Given the description of an element on the screen output the (x, y) to click on. 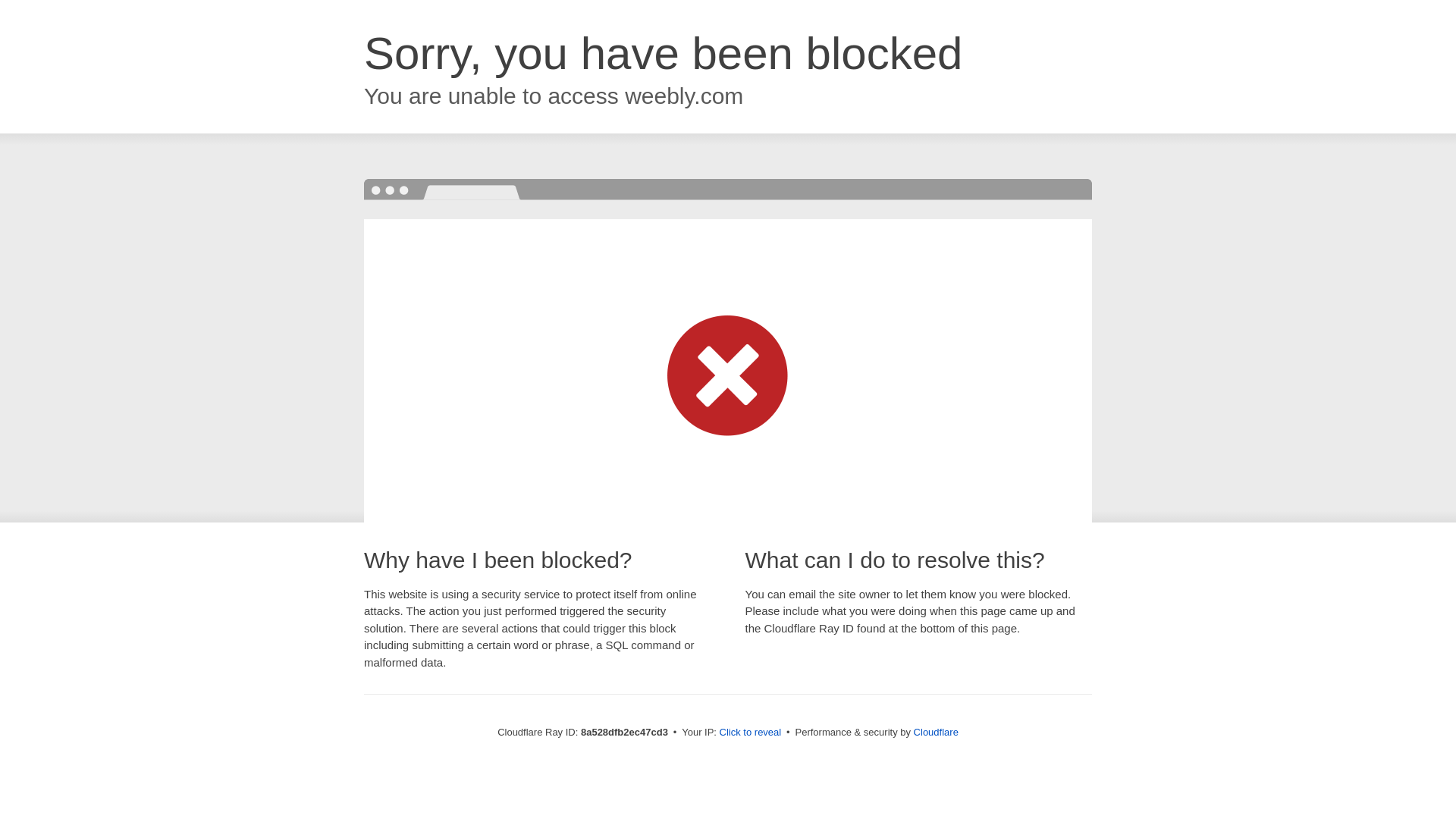
Cloudflare (936, 731)
Click to reveal (750, 732)
